Given the description of an element on the screen output the (x, y) to click on. 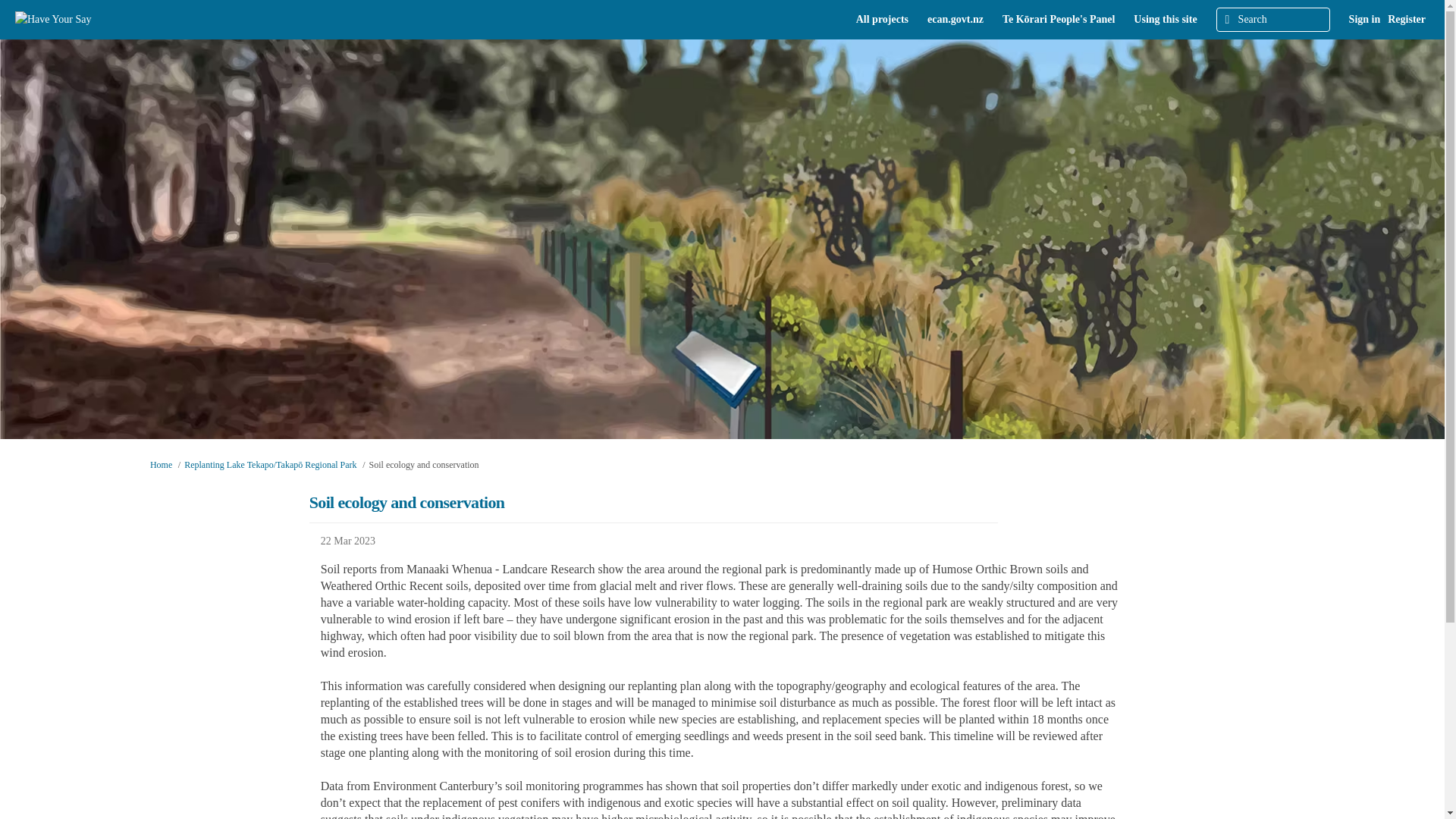
Home (160, 464)
ecan.govt.nz (955, 20)
Sign in (1364, 20)
Using this site (1164, 20)
All projects (881, 20)
Register (1406, 20)
22 Mar 2023, 05:56 PM (722, 541)
